Given the description of an element on the screen output the (x, y) to click on. 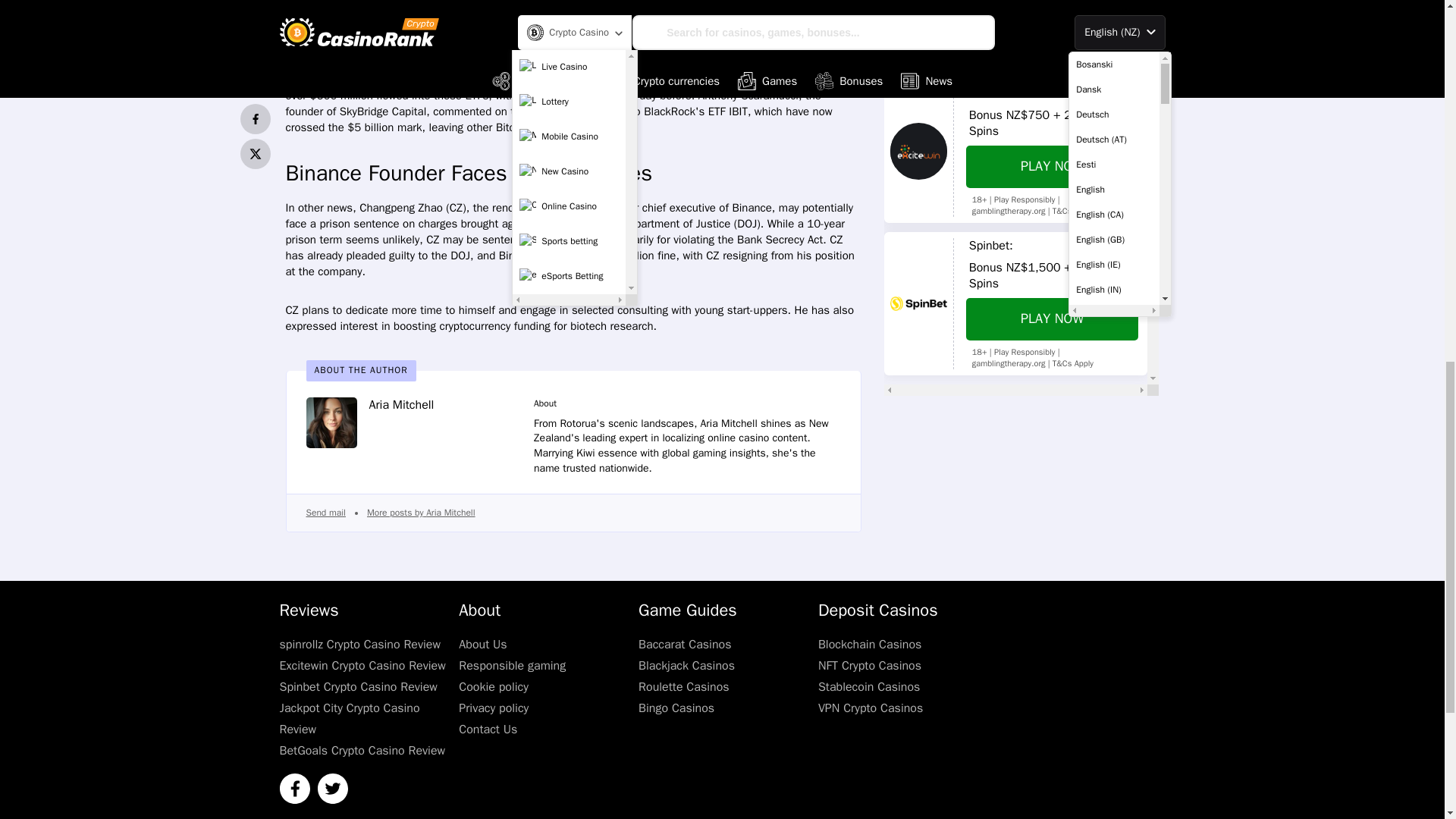
Melayu (1113, 4)
